Given the description of an element on the screen output the (x, y) to click on. 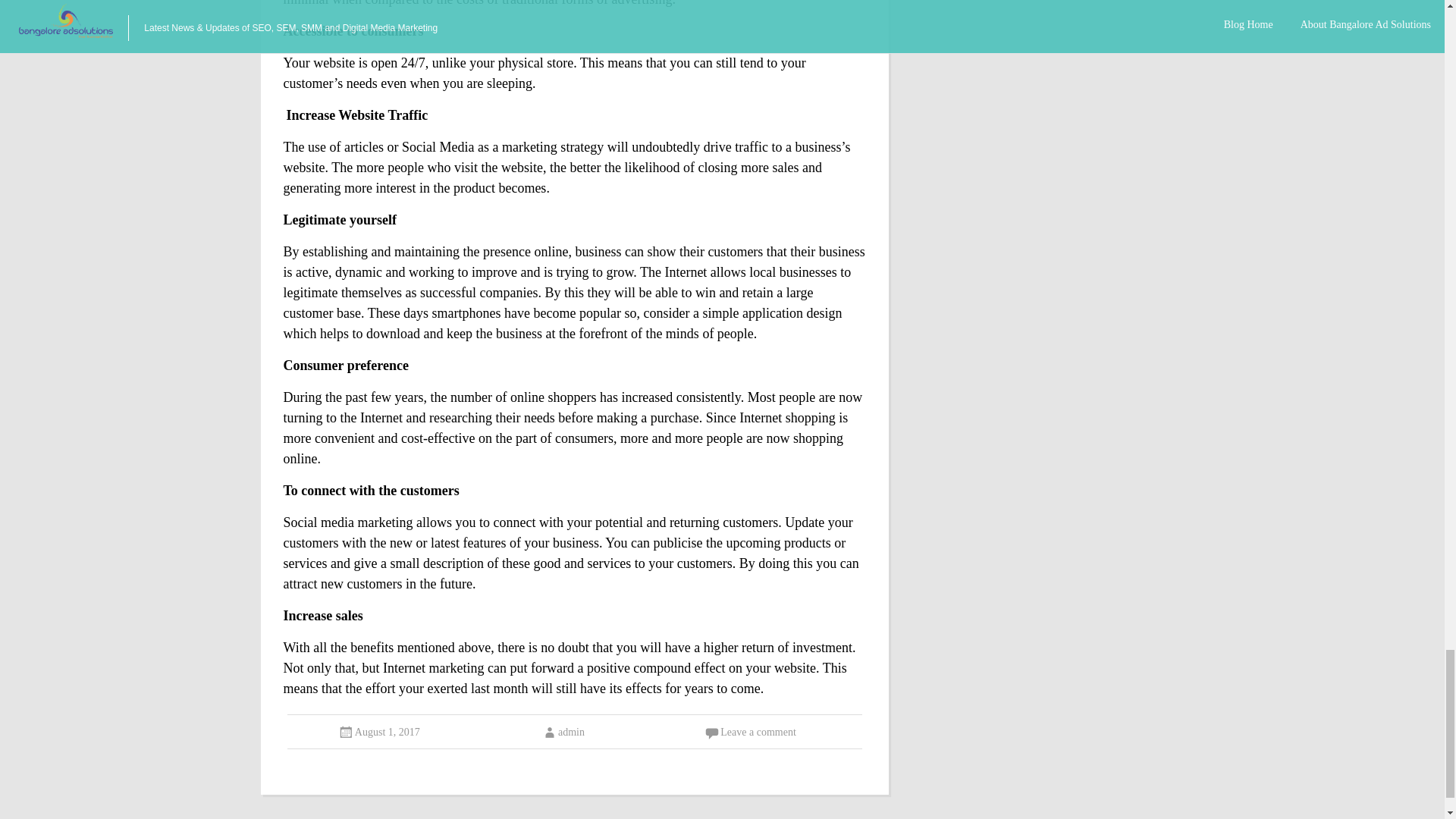
Leave a comment (758, 731)
August 1, 2017 (387, 731)
admin (563, 731)
